Given the description of an element on the screen output the (x, y) to click on. 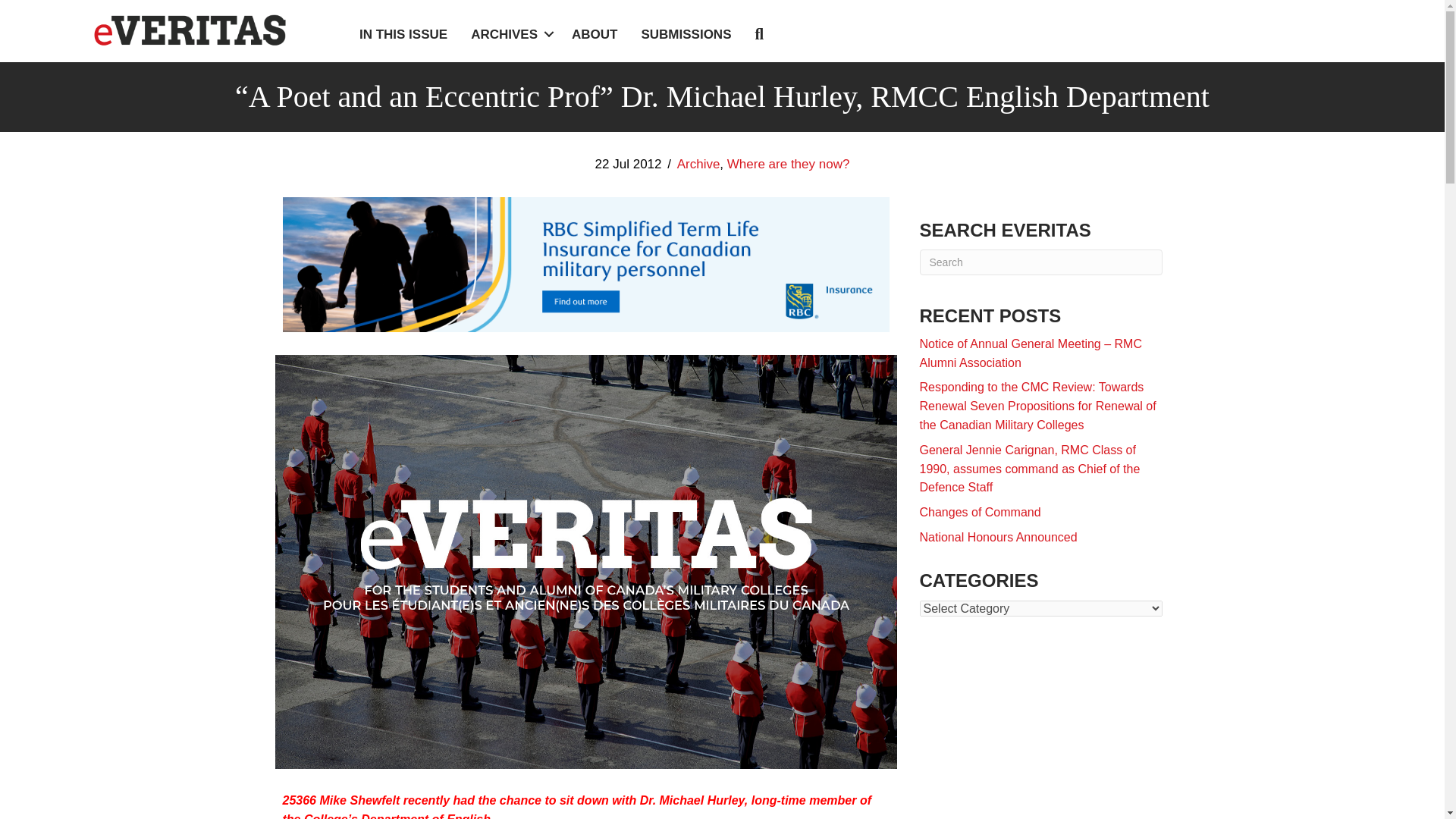
SUBMISSIONS (685, 34)
SEARCH (761, 34)
ABOUT (594, 34)
IN THIS ISSUE (402, 34)
Type and press Enter to search. (1039, 262)
Archive (698, 164)
Where are they now? (788, 164)
ARCHIVES (509, 34)
